Given the description of an element on the screen output the (x, y) to click on. 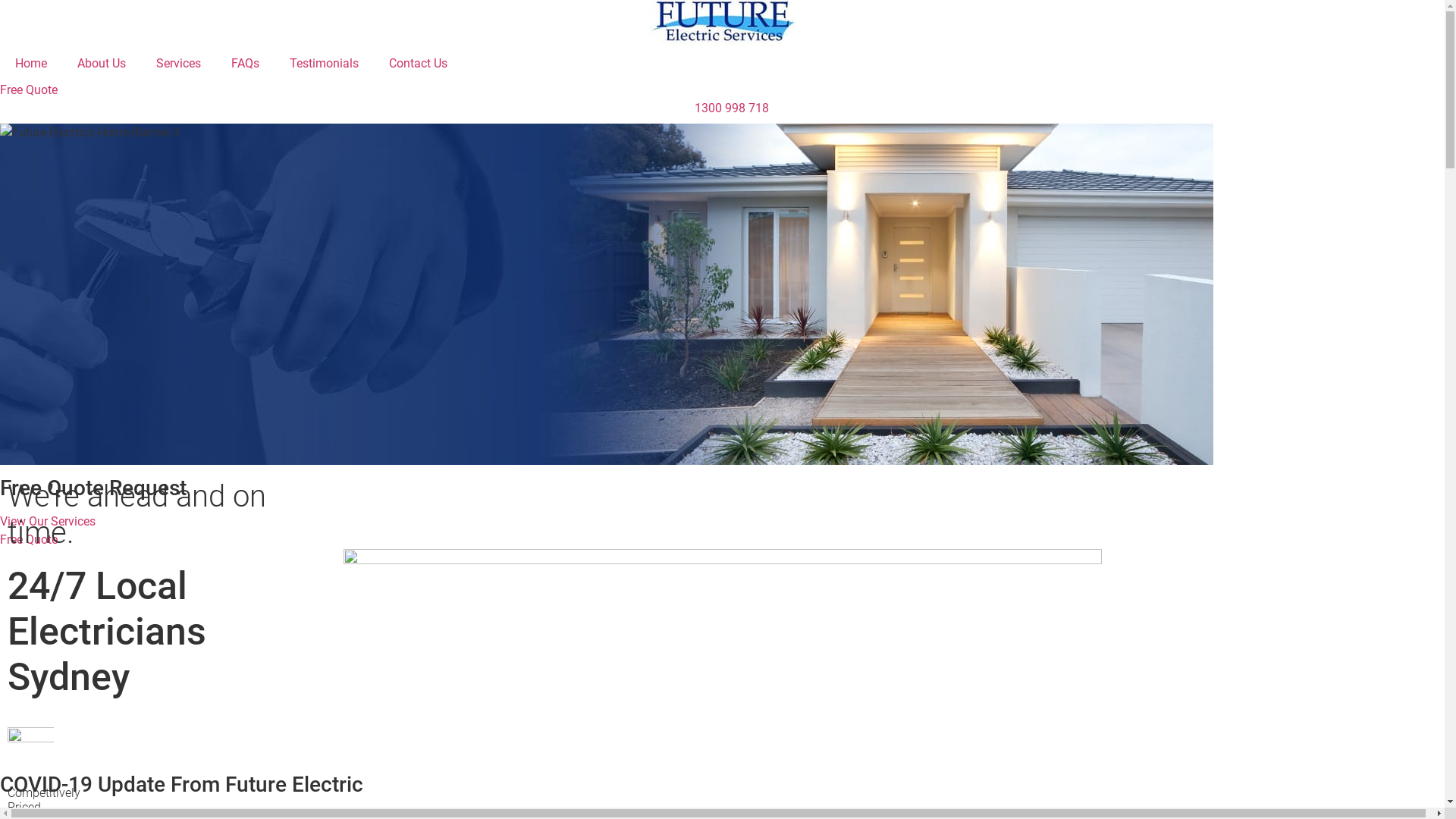
Contact Us Element type: text (417, 63)
Services Element type: text (178, 63)
Free Quote Element type: text (28, 89)
Home Element type: text (31, 63)
View Our Services Element type: text (47, 521)
1300 998 718 Element type: text (722, 108)
Free Quote Element type: text (28, 539)
About Us Element type: text (101, 63)
FAQs Element type: text (245, 63)
Testimonials Element type: text (323, 63)
